Given the description of an element on the screen output the (x, y) to click on. 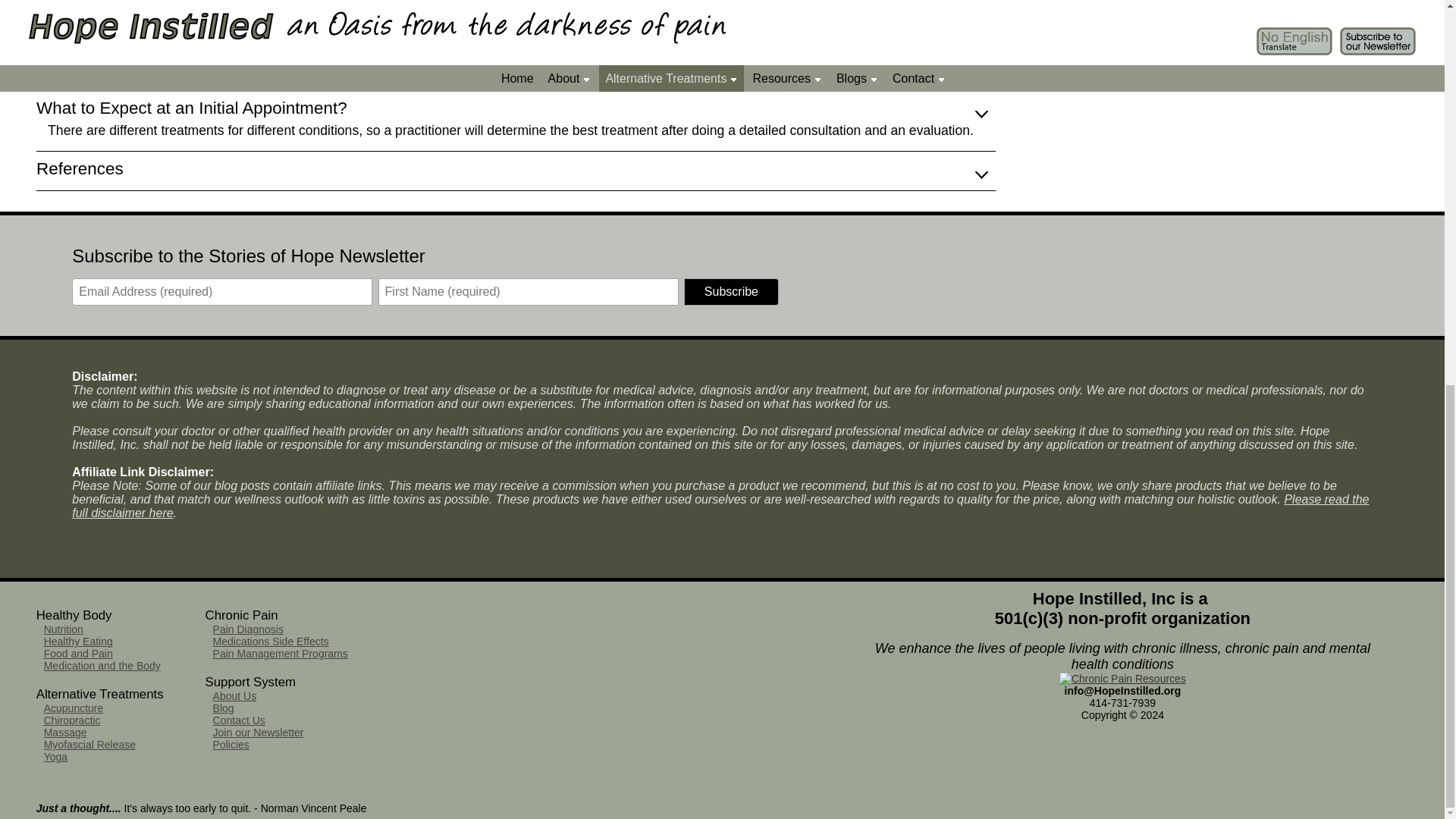
Subscribe (731, 291)
